Given the description of an element on the screen output the (x, y) to click on. 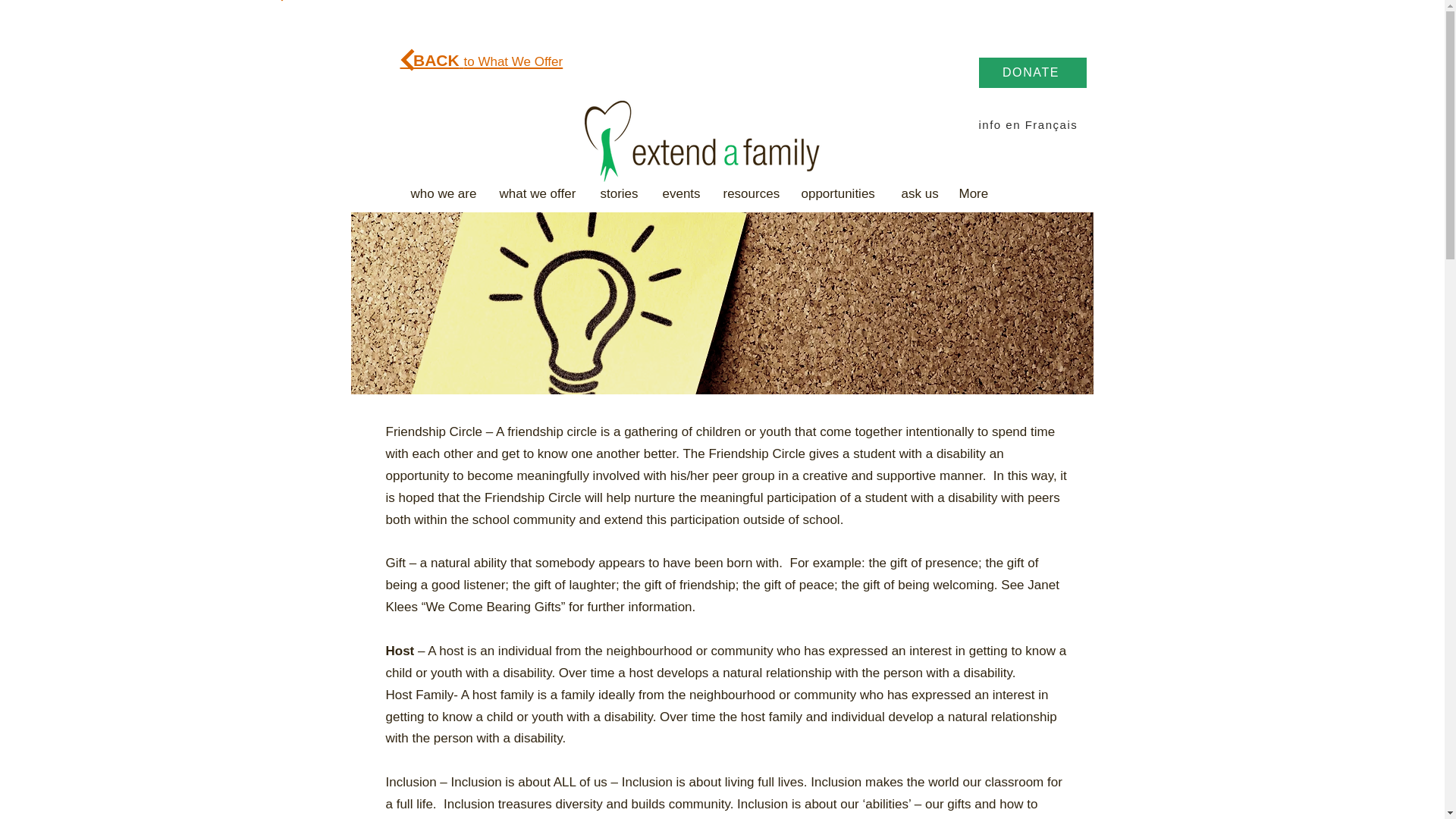
ask us (918, 193)
who we are (442, 193)
   BACK to What We Offer (481, 59)
what we offer (538, 193)
resources (750, 193)
DONATE (1032, 72)
opportunities (839, 193)
events (680, 193)
stories (619, 193)
